Given the description of an element on the screen output the (x, y) to click on. 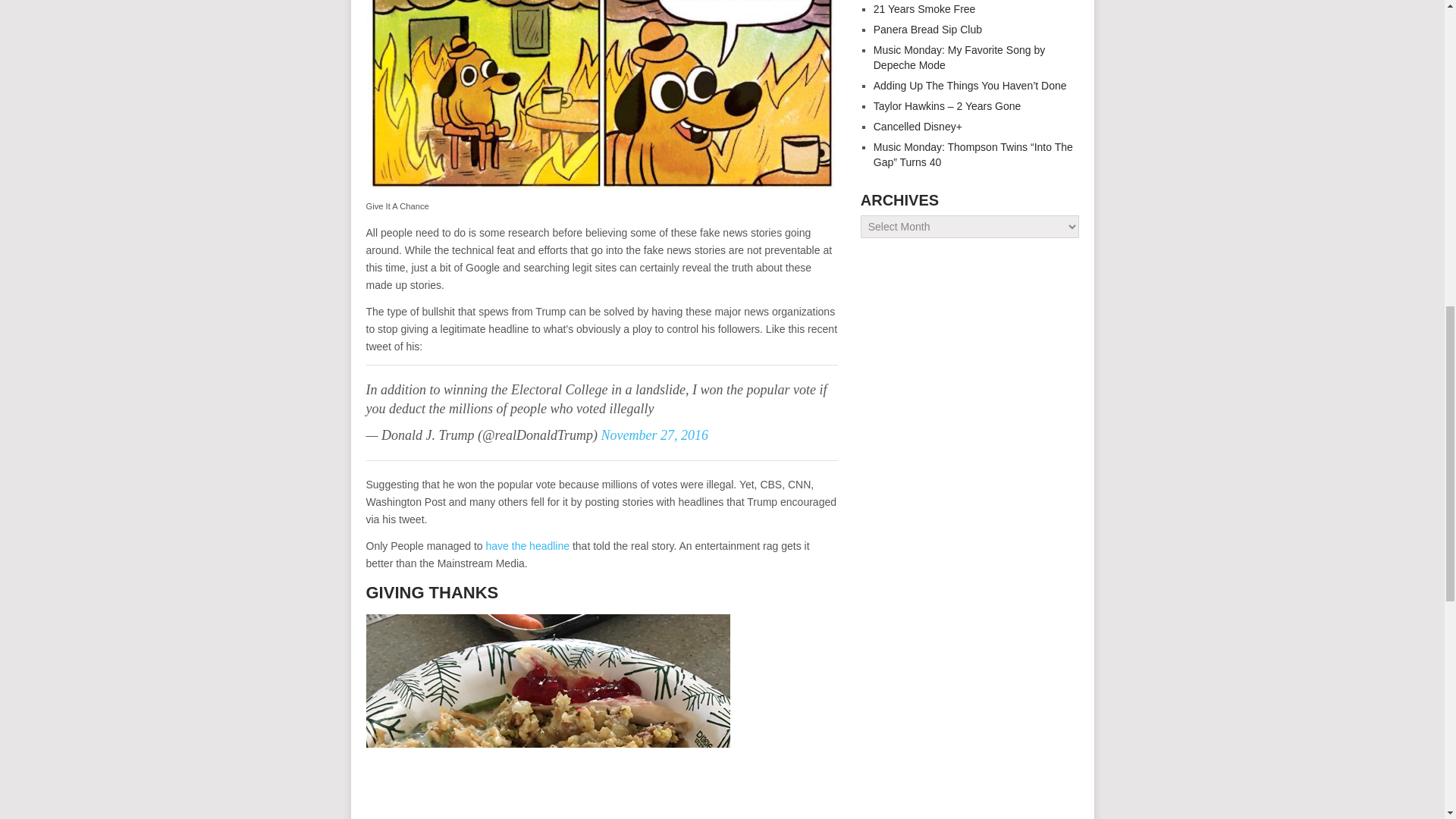
Music Monday: My Favorite Song by Depeche Mode (959, 57)
have the headline (526, 545)
November 27, 2016 (653, 435)
Panera Bread Sip Club (927, 29)
21 Years Smoke Free (924, 9)
